Given the description of an element on the screen output the (x, y) to click on. 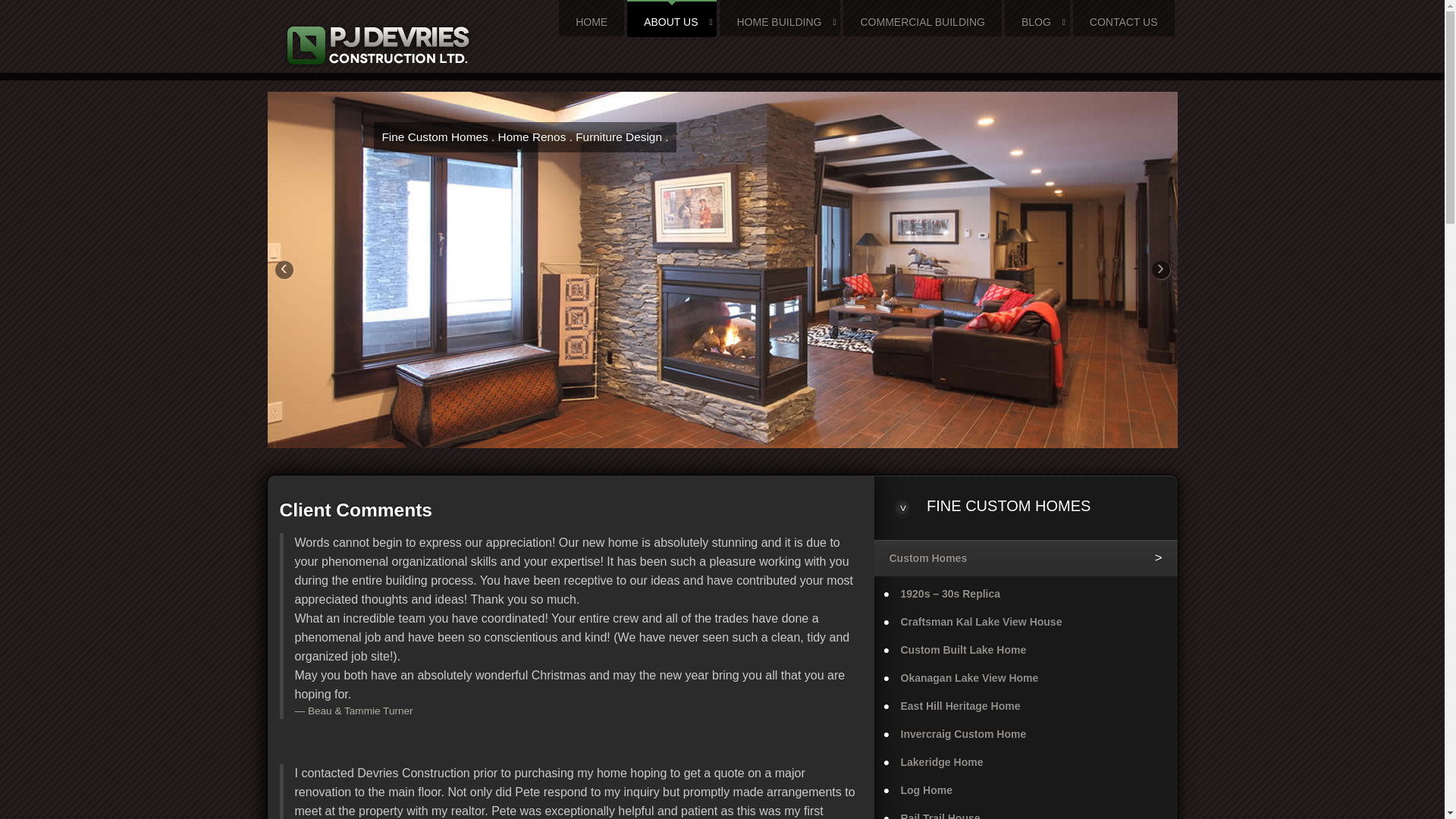
BLOG (1037, 21)
Custom Built Lake Home (1024, 650)
Invercraig Custom Home (1024, 734)
COMMERCIAL BUILDING (922, 21)
CONTACT US (1123, 21)
East Hill Heritage Home (1024, 706)
Custom Homes (1024, 557)
Okanagan Lake View Home (1024, 678)
Craftsman Kal Lake View House (1024, 622)
ABOUT US (671, 21)
Rail Trail House (1024, 811)
HOME BUILDING (779, 21)
HOME (591, 21)
Log Home (1024, 790)
Lakeridge Home (1024, 762)
